Given the description of an element on the screen output the (x, y) to click on. 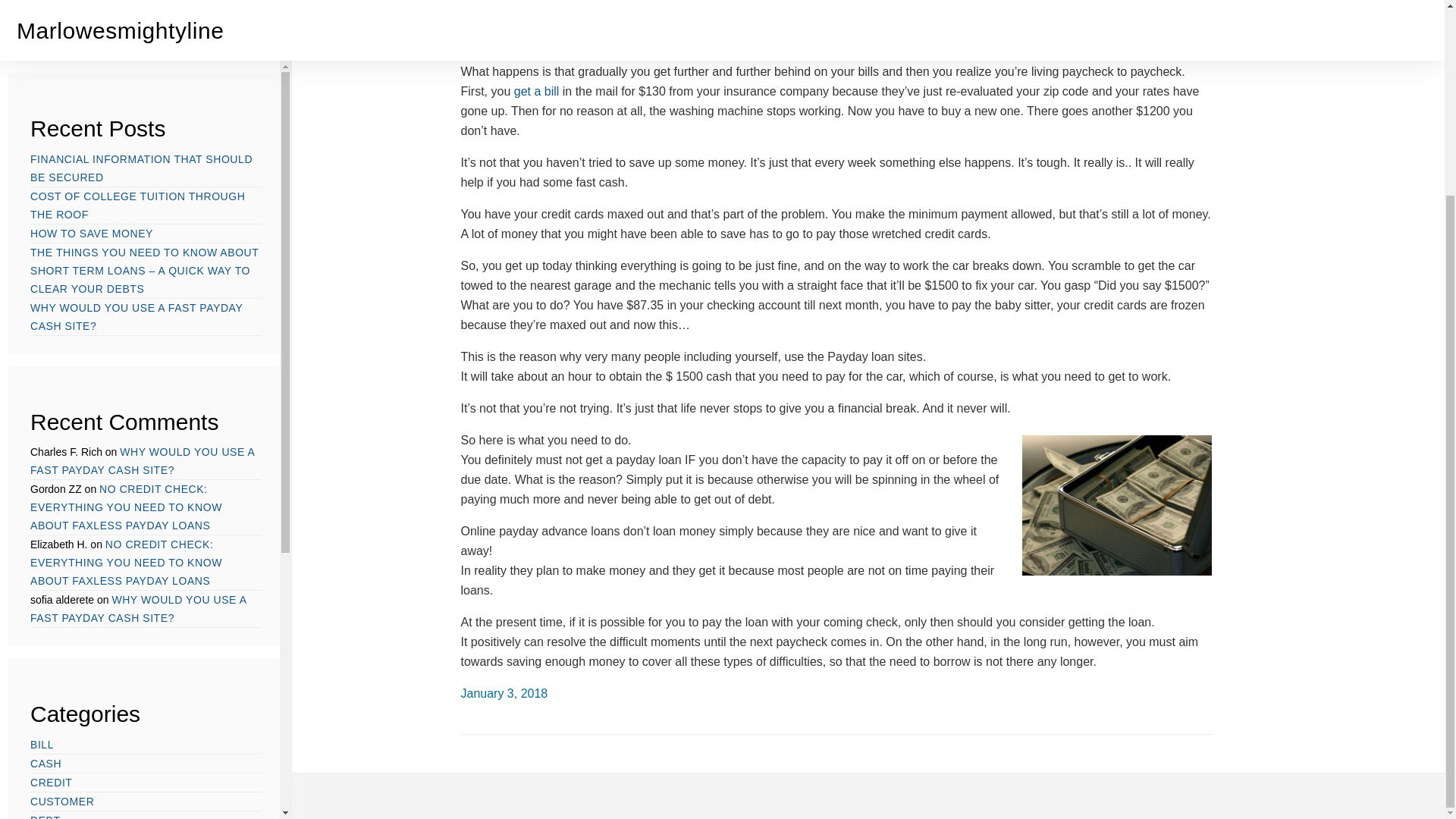
BILL (41, 496)
PAYDAY (52, 647)
get a bill (536, 91)
DEBT (45, 572)
FINANCIAL INFORMATION (100, 591)
LOANS (49, 610)
UNCATEGORIZED (79, 686)
CREDIT (50, 534)
WHY WOULD YOU USE A FAST PAYDAY CASH SITE? (142, 214)
MONEY (50, 629)
WHY WOULD YOU USE A FAST PAYDAY CASH SITE? (138, 361)
WHY WOULD YOU USE A FAST PAYDAY CASH SITE? (136, 68)
CUSTOMER (62, 554)
